Given the description of an element on the screen output the (x, y) to click on. 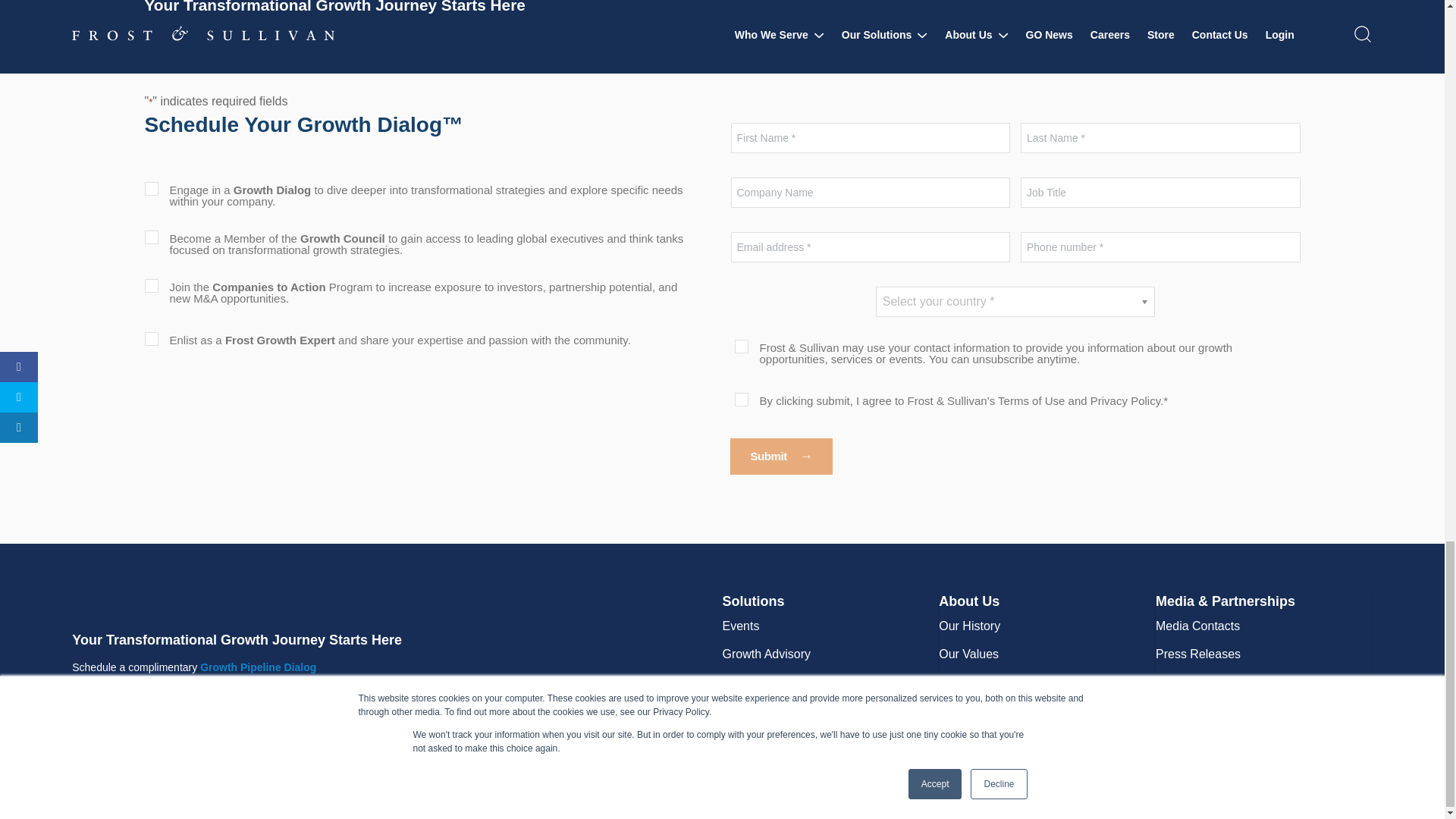
frostsullivanlogo (223, 602)
